Given the description of an element on the screen output the (x, y) to click on. 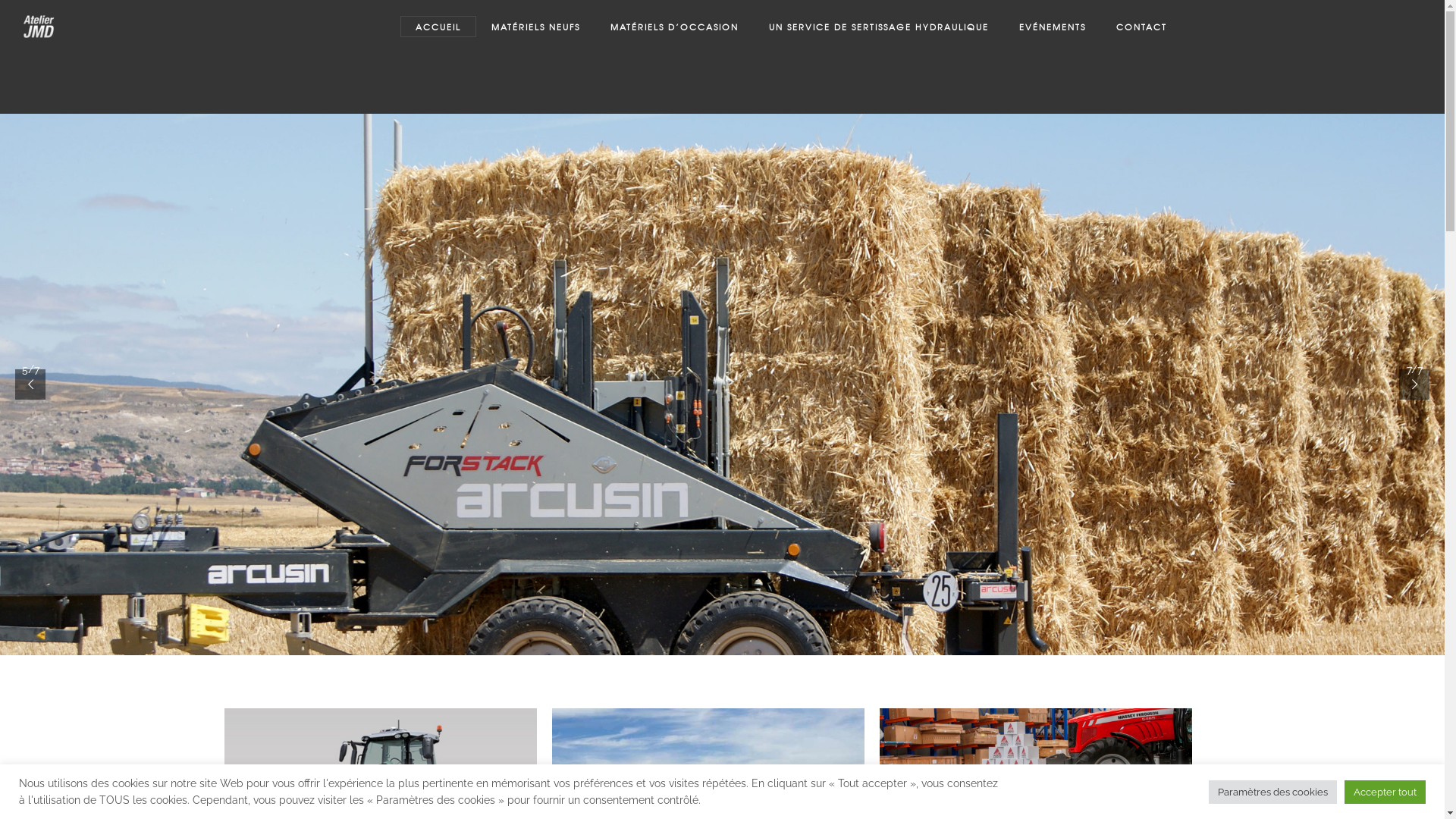
ACCUEIL Element type: text (438, 26)
CONTACT Element type: text (1141, 26)
Accepter tout Element type: text (1384, 791)
UN SERVICE DE SERTISSAGE HYDRAULIQUE Element type: text (878, 26)
